Given the description of an element on the screen output the (x, y) to click on. 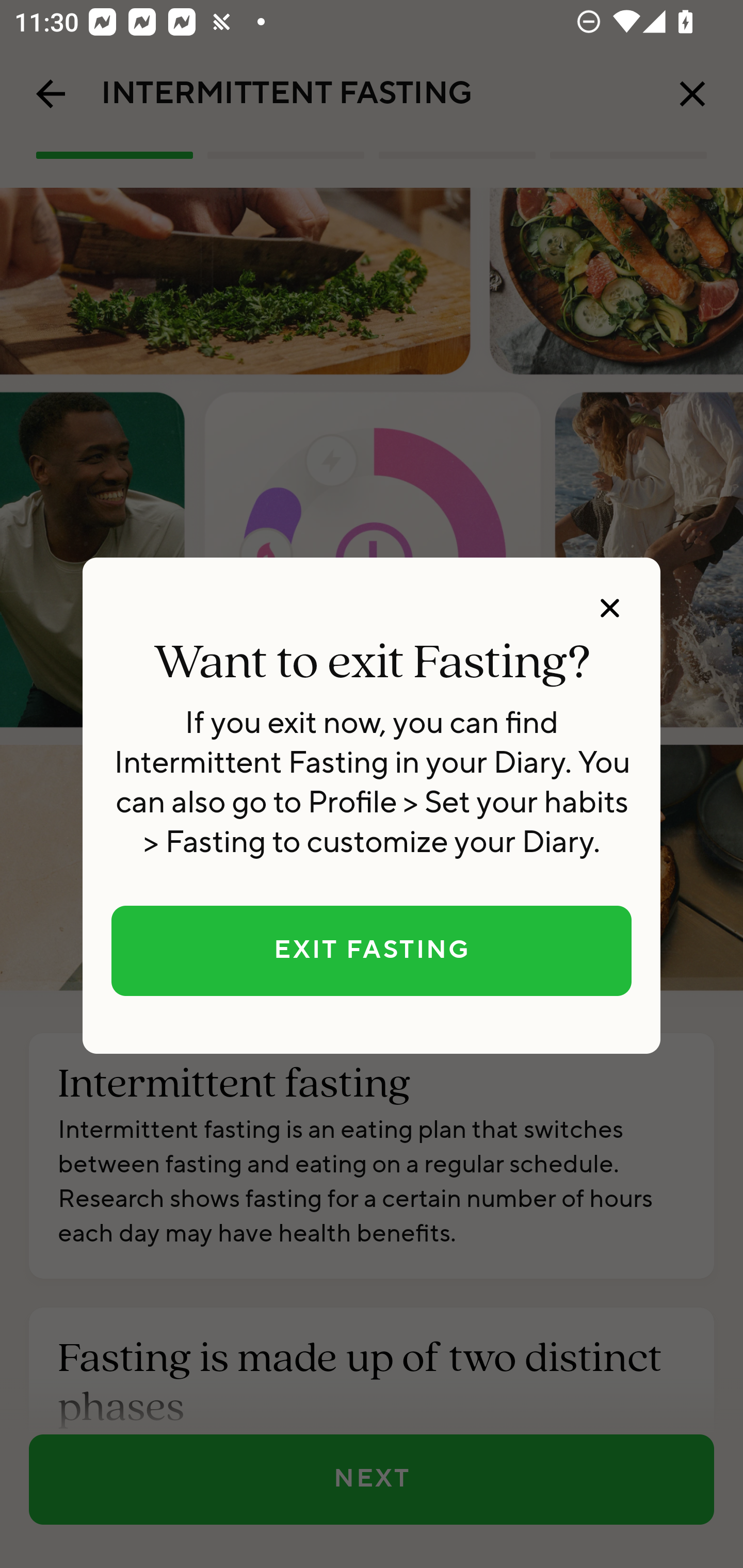
Dismiss (609, 607)
EXIT FASTING (371, 950)
